Given the description of an element on the screen output the (x, y) to click on. 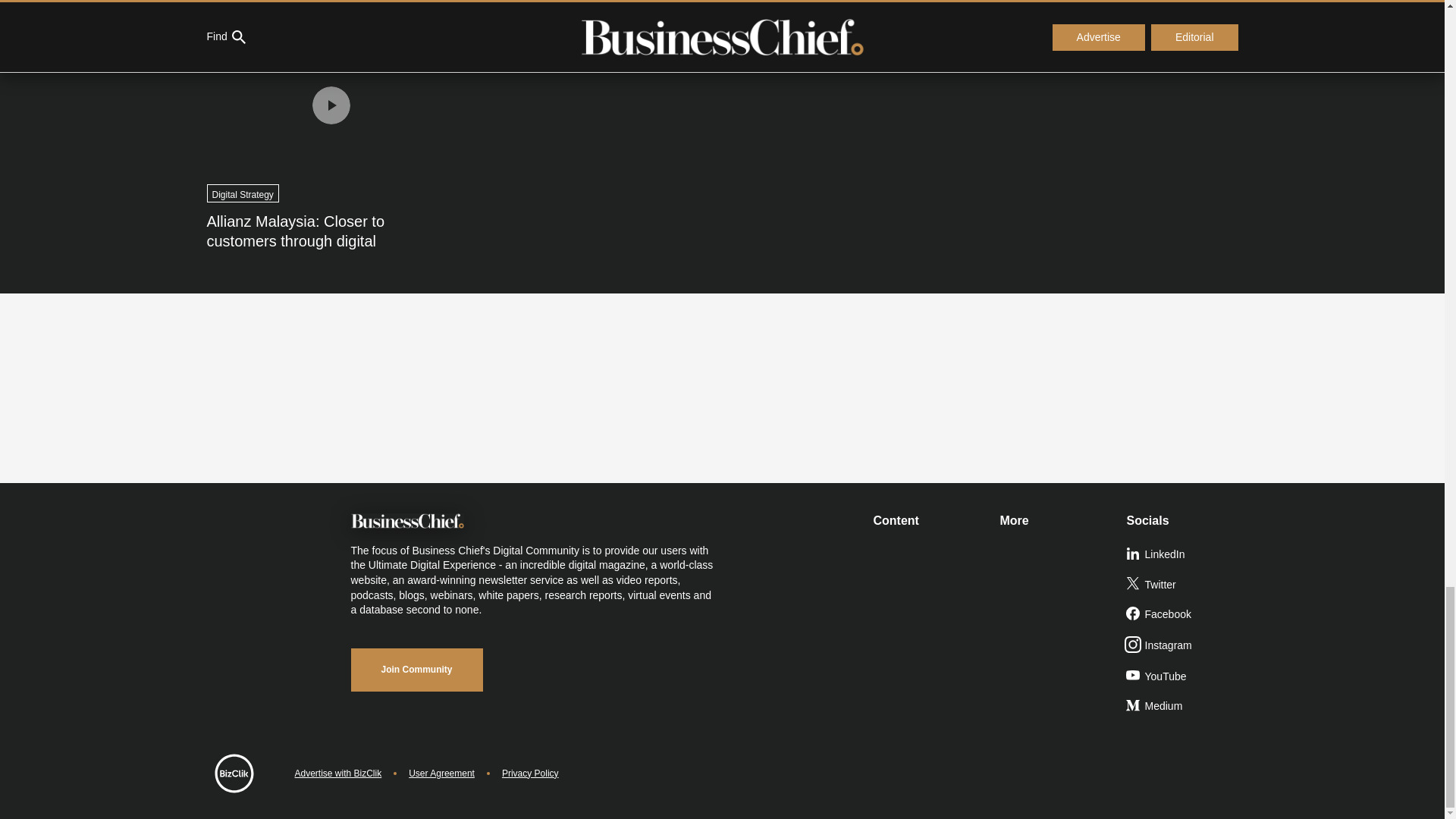
Facebook (1182, 614)
LinkedIn (1182, 554)
YouTube (1182, 676)
Join Community (415, 669)
Advertise with BizClik (337, 773)
Medium (1182, 706)
Twitter (1182, 585)
User Agreement (441, 773)
Instagram (1182, 645)
